Given the description of an element on the screen output the (x, y) to click on. 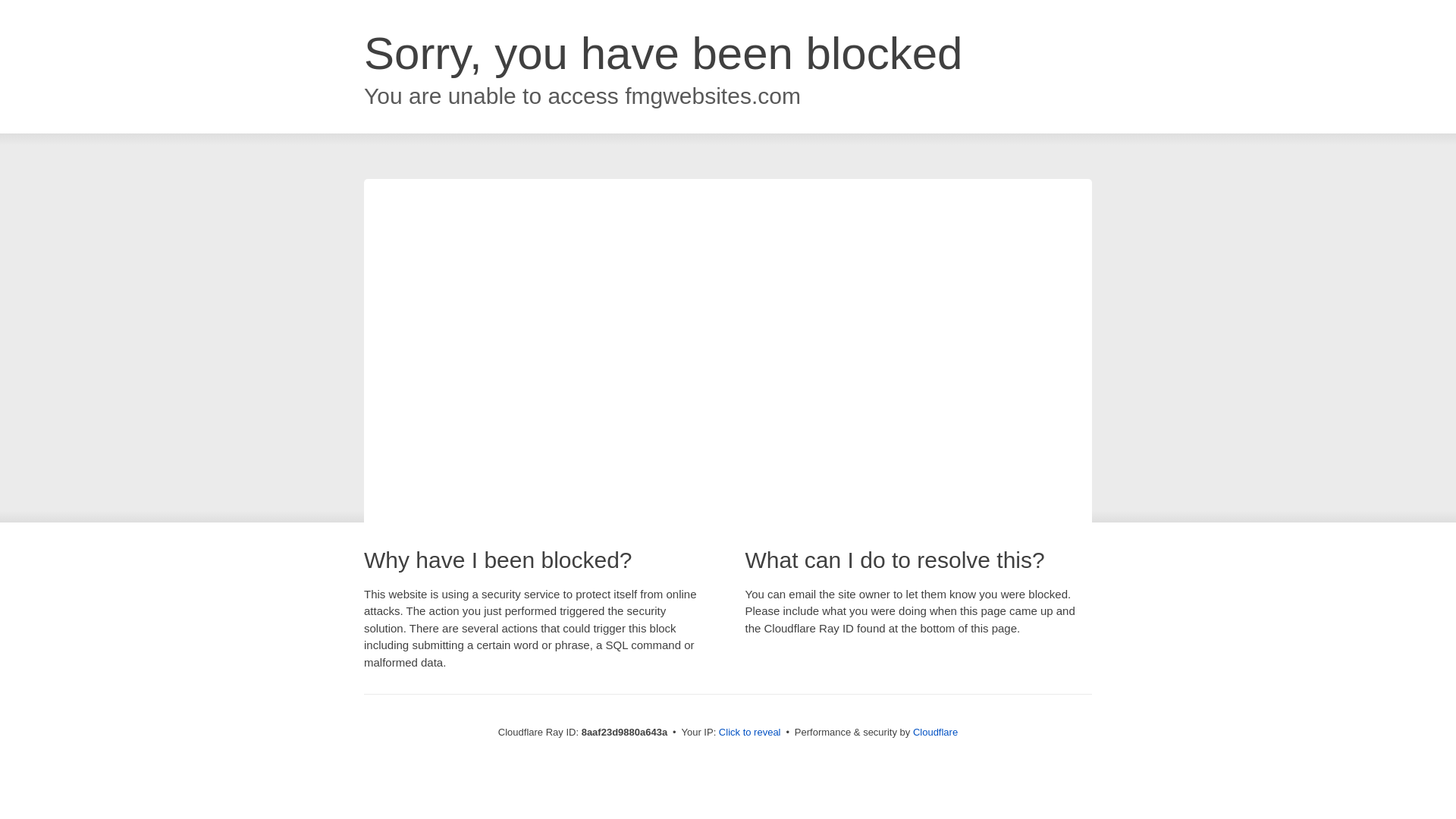
Click to reveal (749, 732)
Cloudflare (935, 731)
